Given the description of an element on the screen output the (x, y) to click on. 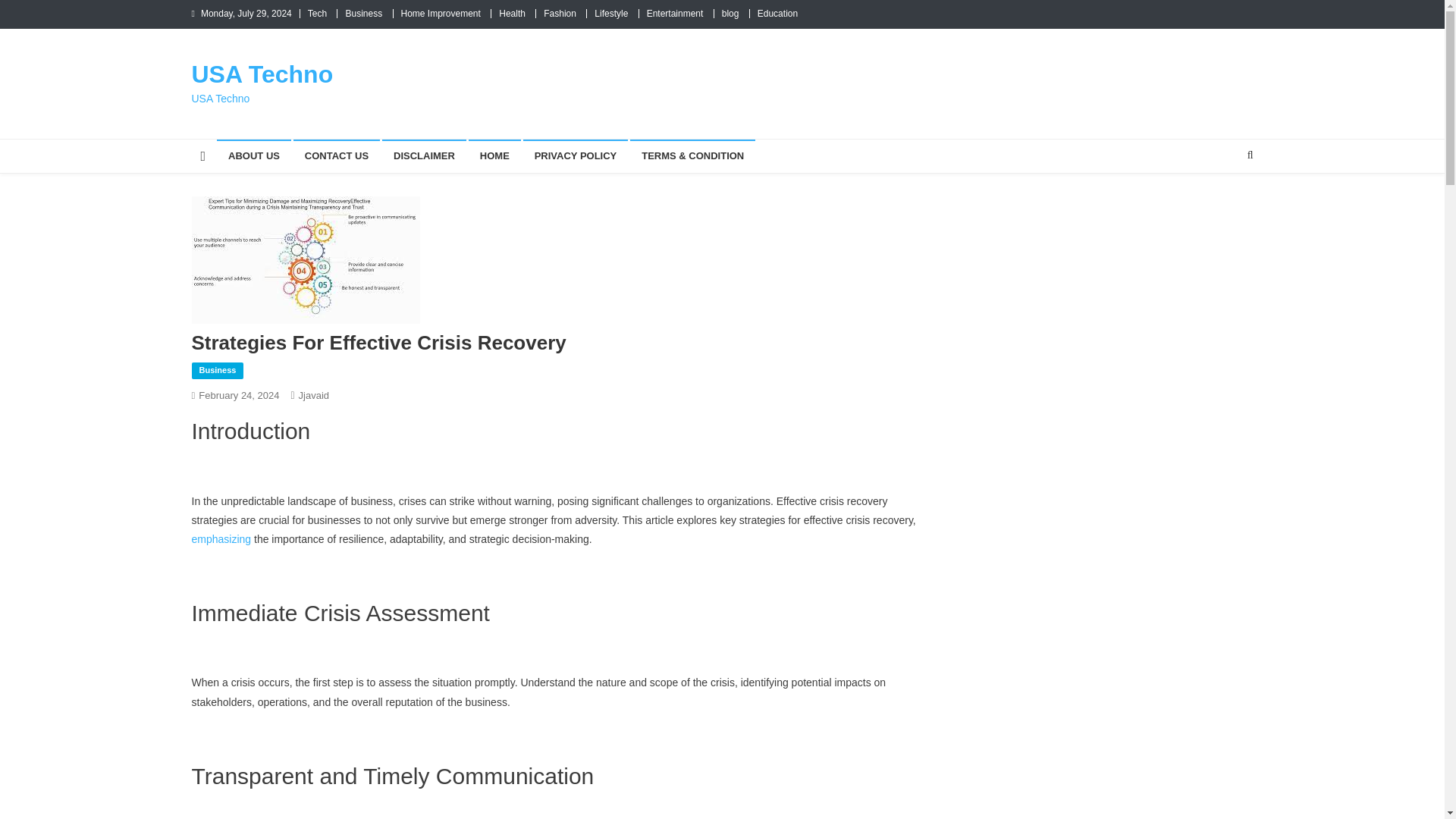
February 24, 2024 (238, 395)
ABOUT US (253, 155)
Jjavaid (313, 395)
blog (730, 13)
Business (216, 370)
Home Improvement (440, 13)
Fashion (559, 13)
emphasizing (220, 539)
Tech (316, 13)
DISCLAIMER (423, 155)
Search (1221, 205)
Entertainment (674, 13)
CONTACT US (337, 155)
Strategies for Effective Crisis Recovery 1 (304, 259)
PRIVACY POLICY (575, 155)
